Given the description of an element on the screen output the (x, y) to click on. 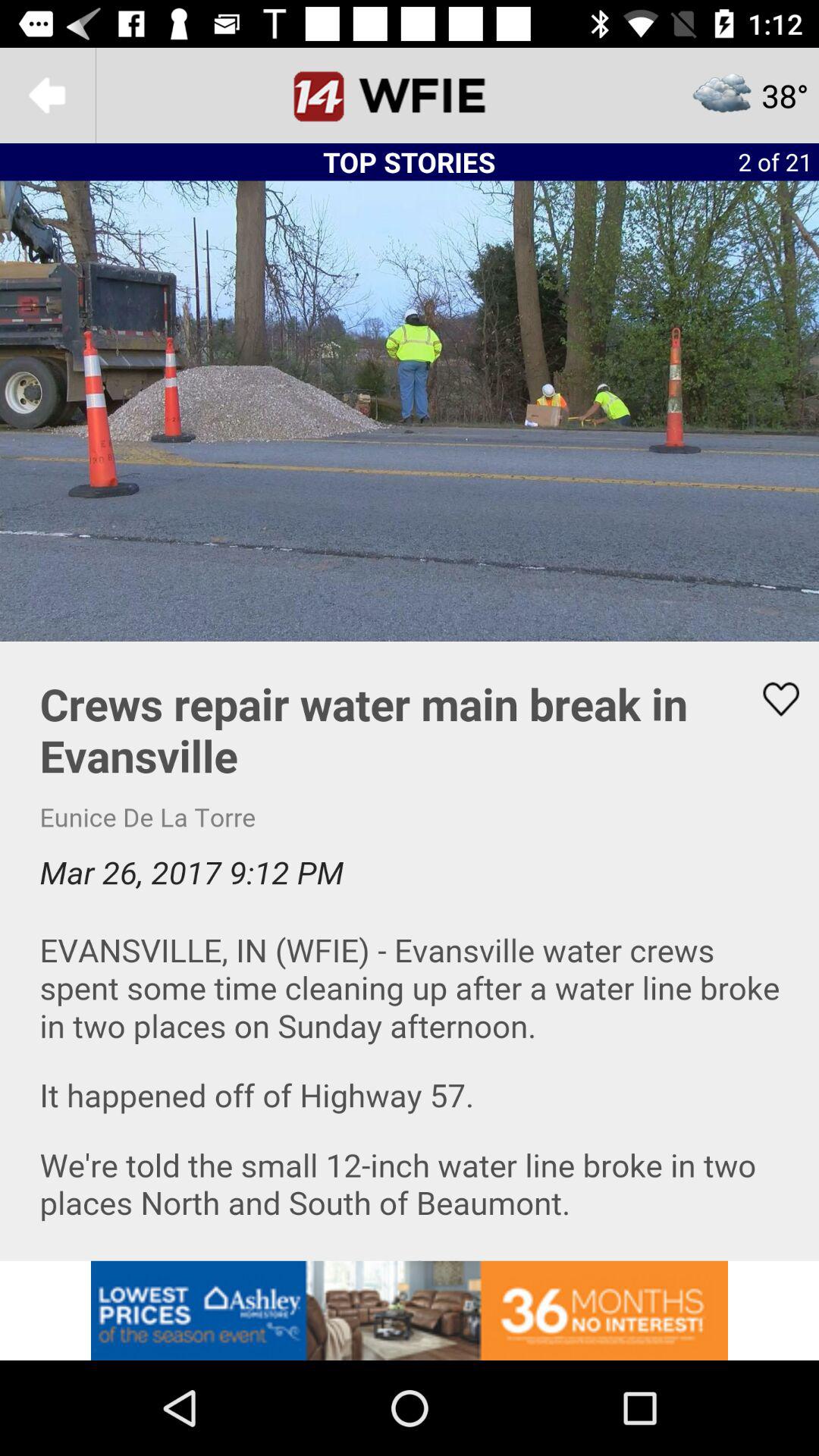
go back (47, 95)
